Given the description of an element on the screen output the (x, y) to click on. 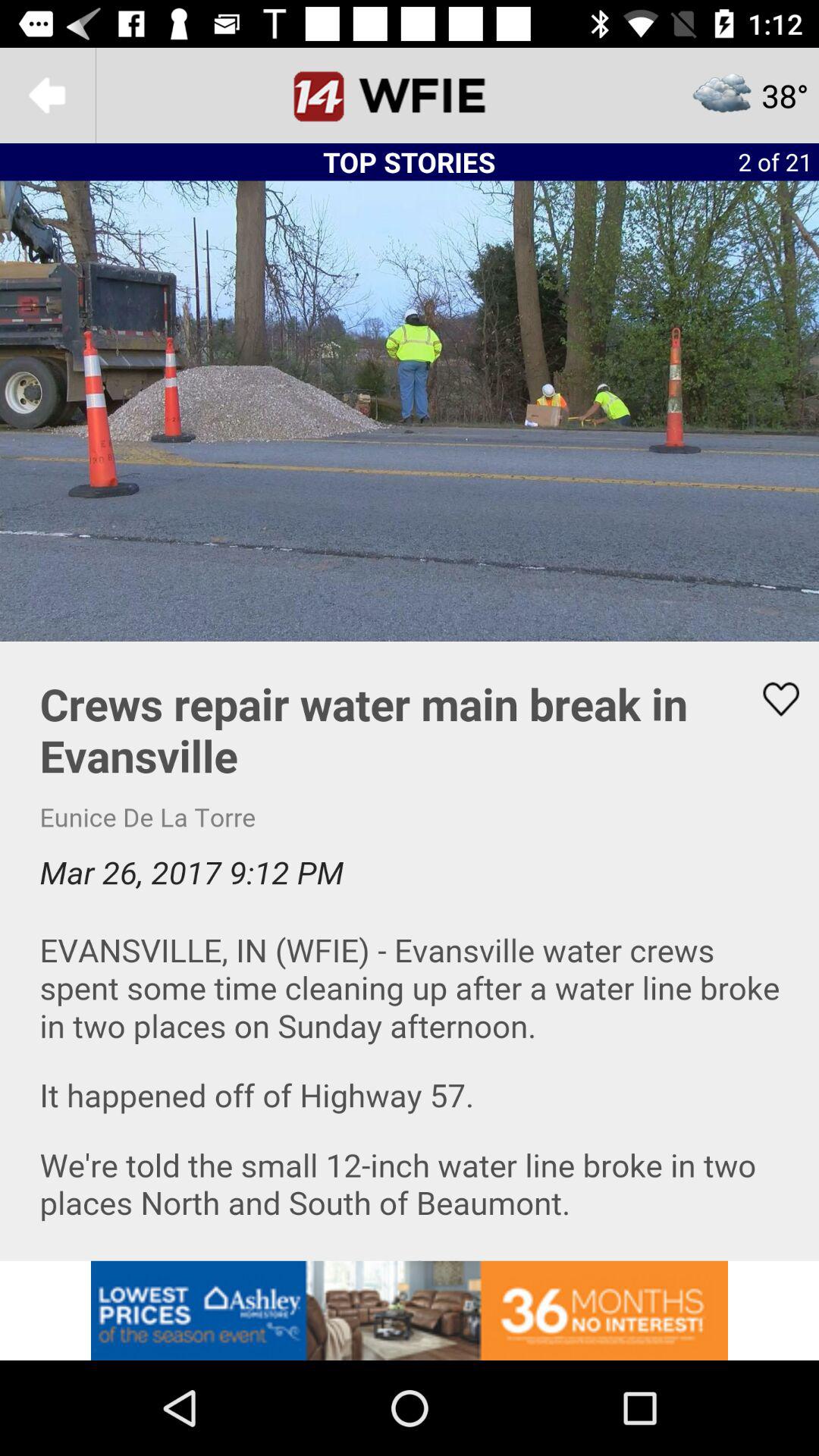
go back (47, 95)
